Given the description of an element on the screen output the (x, y) to click on. 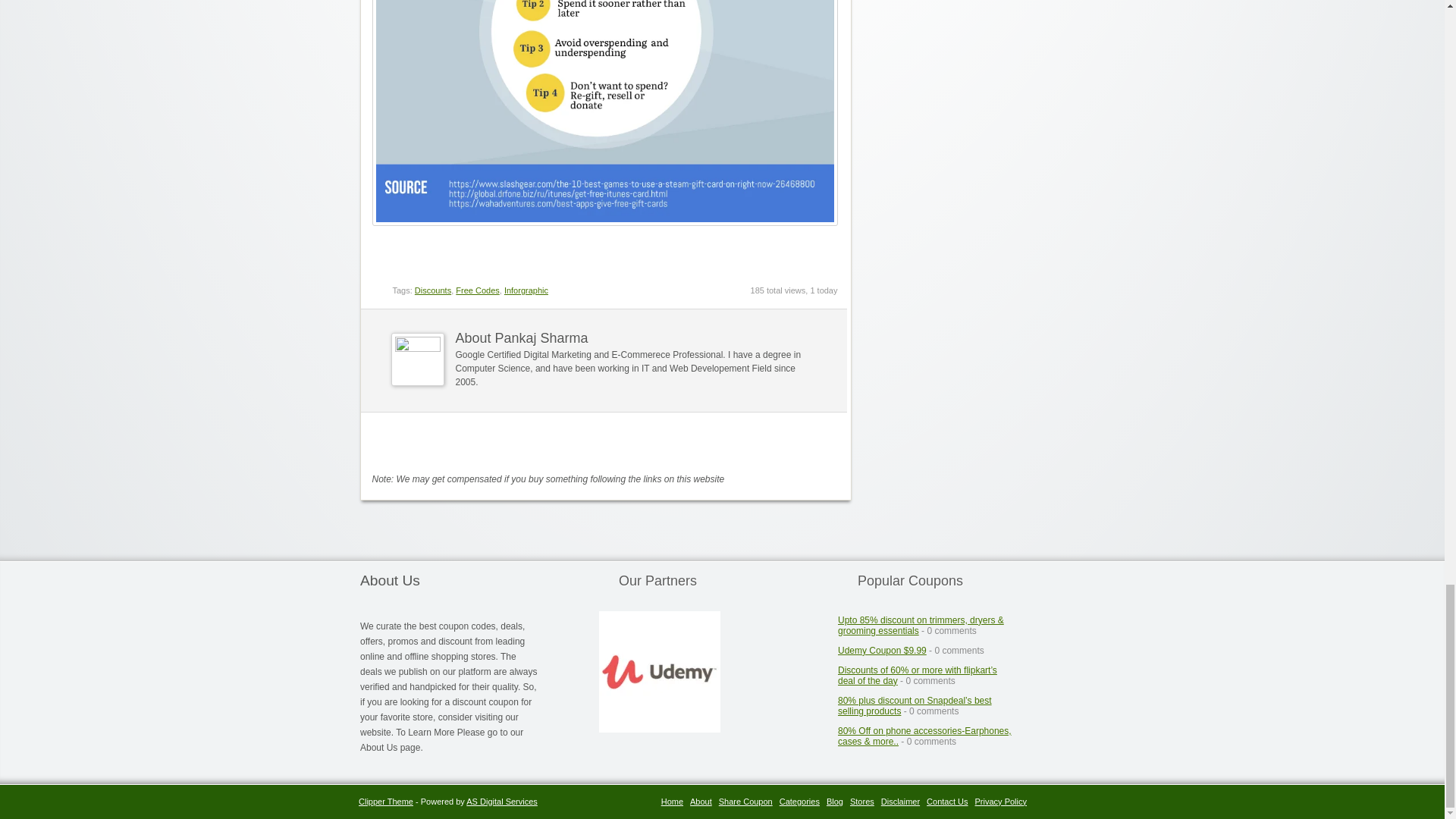
Facebook (801, 442)
Inforgraphic (525, 289)
Free Codes (477, 289)
Discounts (432, 289)
Twitter (776, 442)
Post Comments RSS (748, 442)
Digg (829, 442)
